Given the description of an element on the screen output the (x, y) to click on. 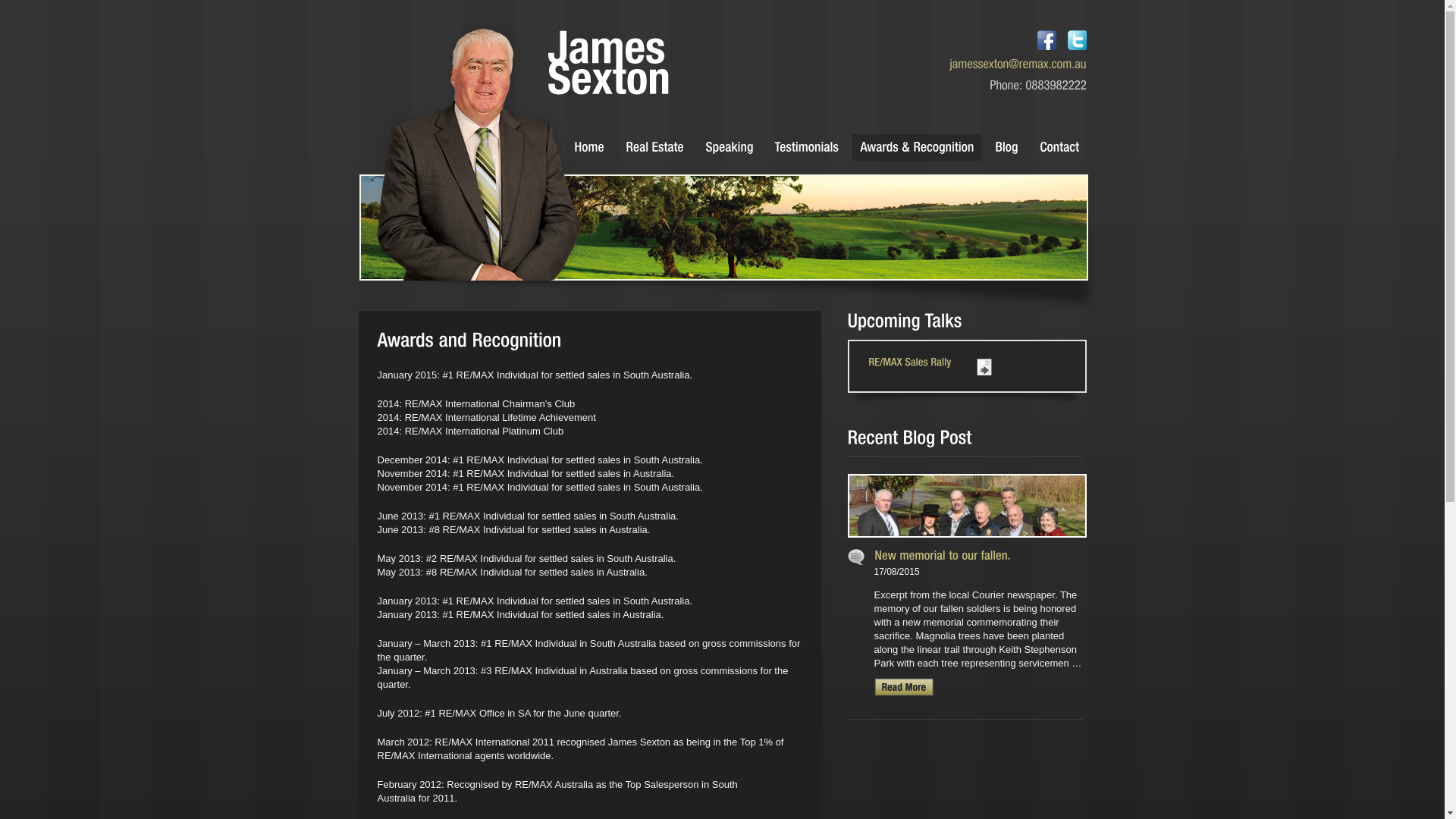
Permalink to New memorial to our fallen. Element type: hover (966, 541)
Permalink to New memorial to our fallen. Element type: hover (941, 555)
